Given the description of an element on the screen output the (x, y) to click on. 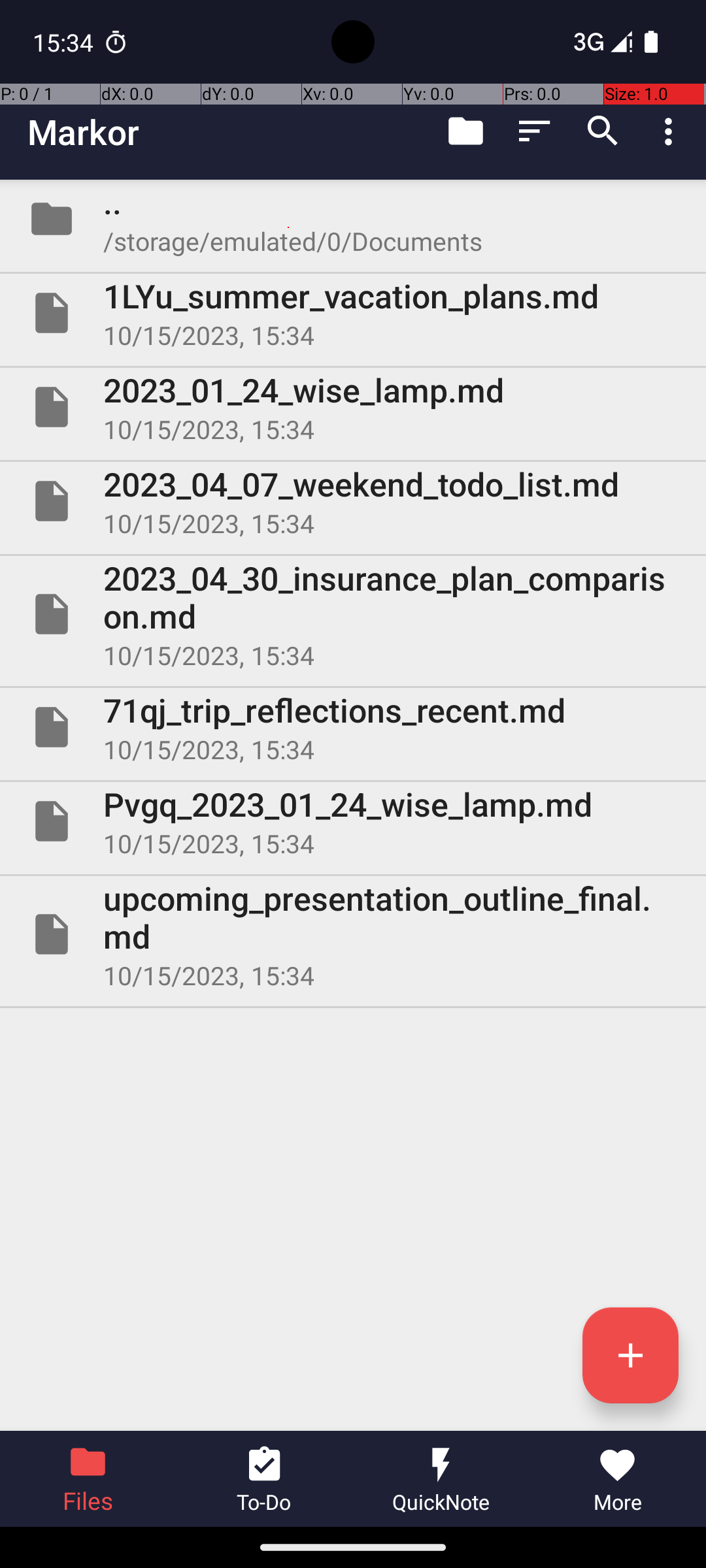
File 1LYu_summer_vacation_plans.md  Element type: android.widget.LinearLayout (353, 312)
File 2023_01_24_wise_lamp.md  Element type: android.widget.LinearLayout (353, 406)
File 2023_04_07_weekend_todo_list.md  Element type: android.widget.LinearLayout (353, 500)
File 2023_04_30_insurance_plan_comparison.md  Element type: android.widget.LinearLayout (353, 613)
File 71qj_trip_reflections_recent.md  Element type: android.widget.LinearLayout (353, 726)
File Pvgq_2023_01_24_wise_lamp.md  Element type: android.widget.LinearLayout (353, 821)
File upcoming_presentation_outline_final.md  Element type: android.widget.LinearLayout (353, 934)
